Given the description of an element on the screen output the (x, y) to click on. 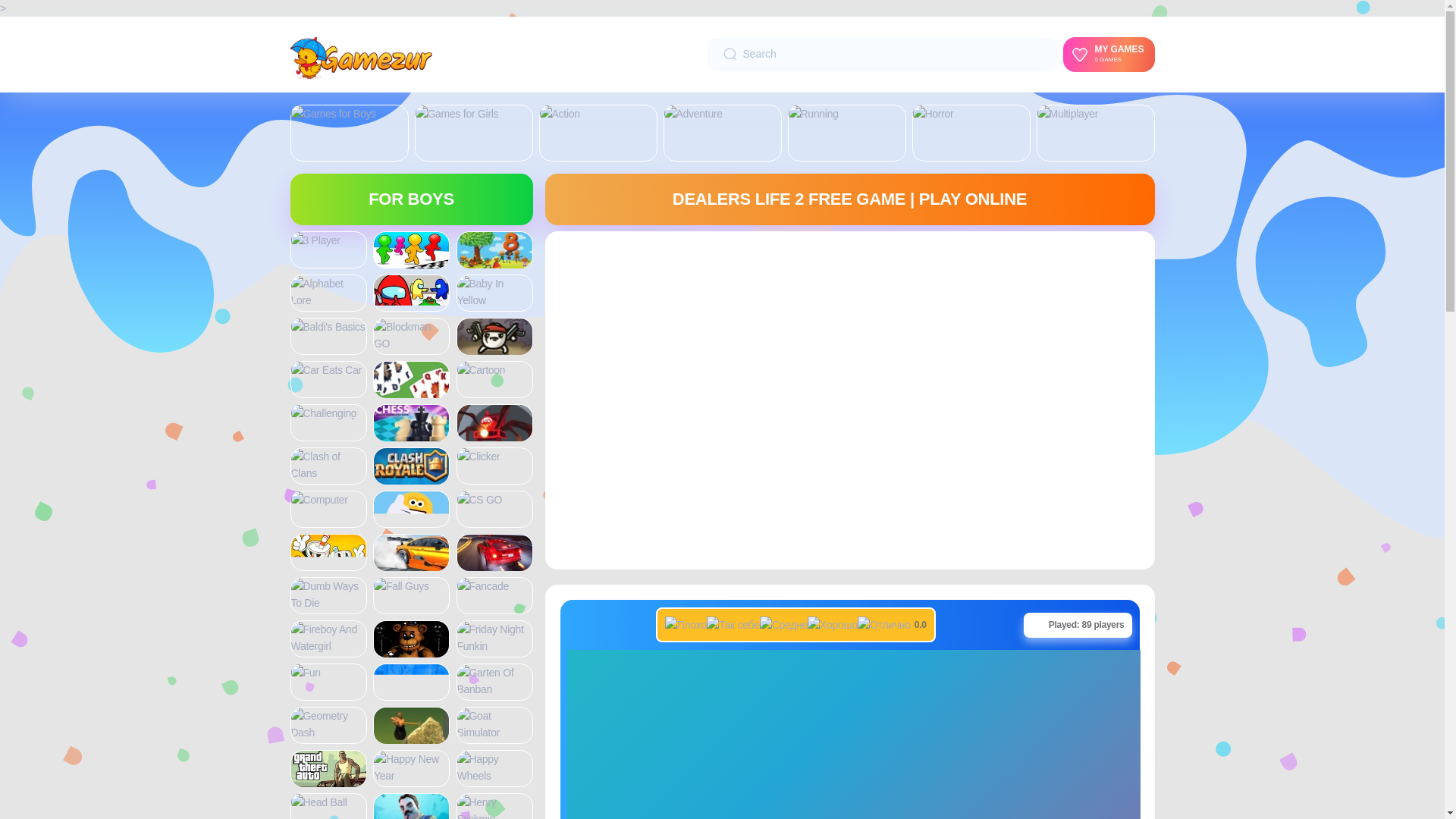
3 Player (315, 239)
Action (559, 113)
Adventure (692, 113)
Adventure (692, 113)
4 Player (411, 259)
Running (813, 113)
Games for Girls (456, 113)
Horror (932, 113)
Games for Boys (333, 113)
3 Player (315, 240)
